Given the description of an element on the screen output the (x, y) to click on. 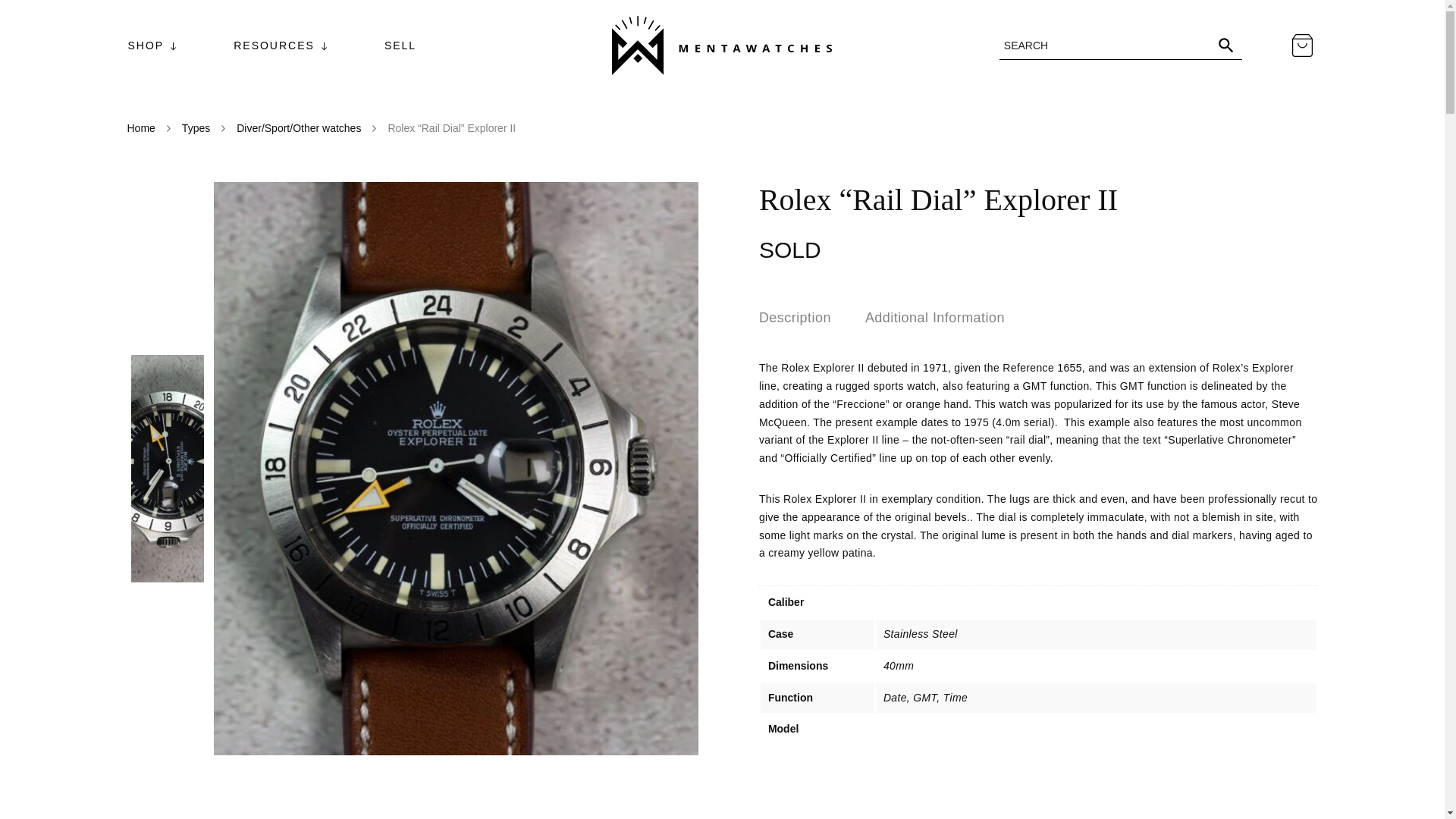
SELL (400, 45)
RESOURCES (273, 45)
SHOP (146, 45)
